Given the description of an element on the screen output the (x, y) to click on. 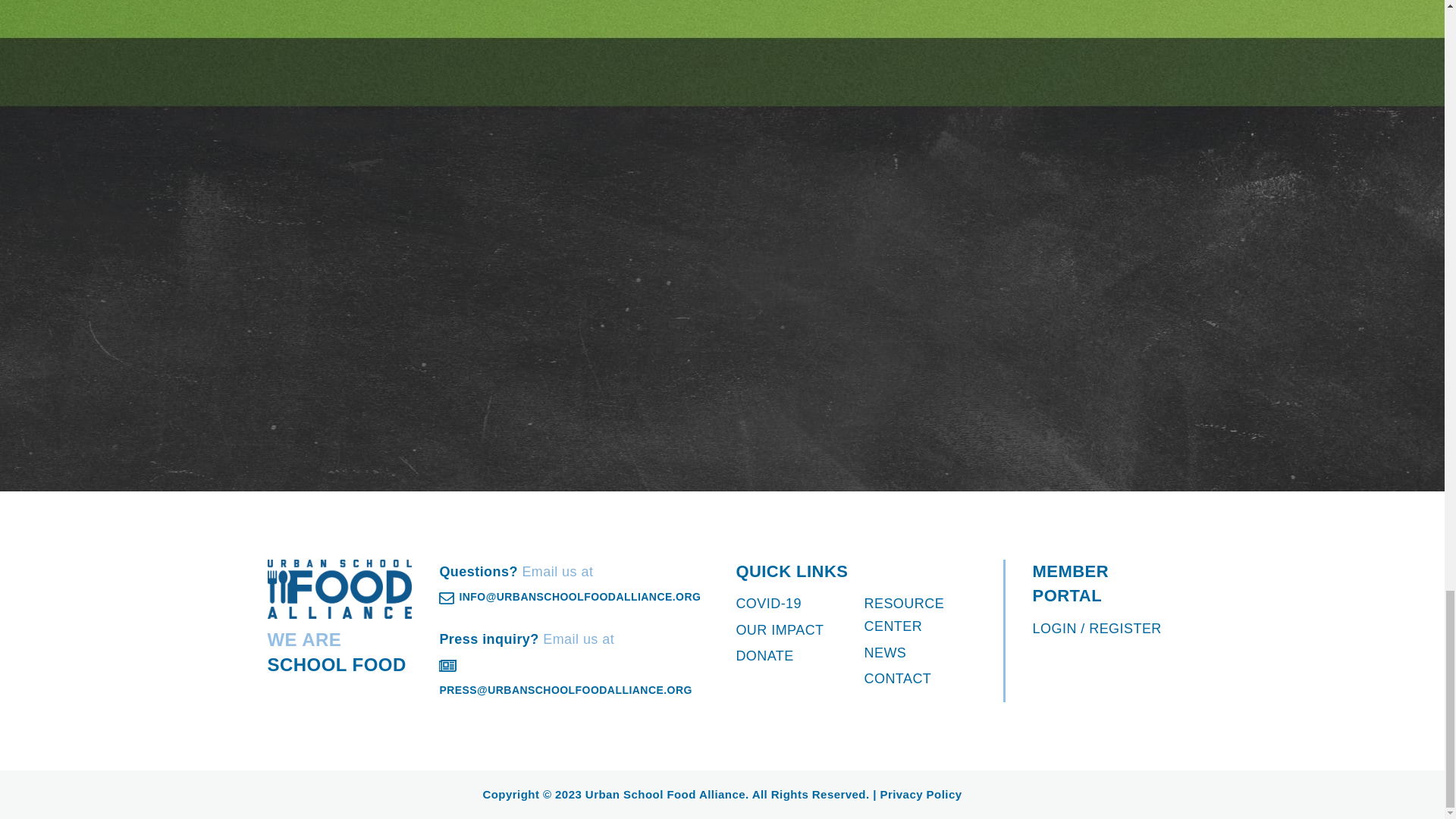
Urban School Food Alliance (339, 589)
